Given the description of an element on the screen output the (x, y) to click on. 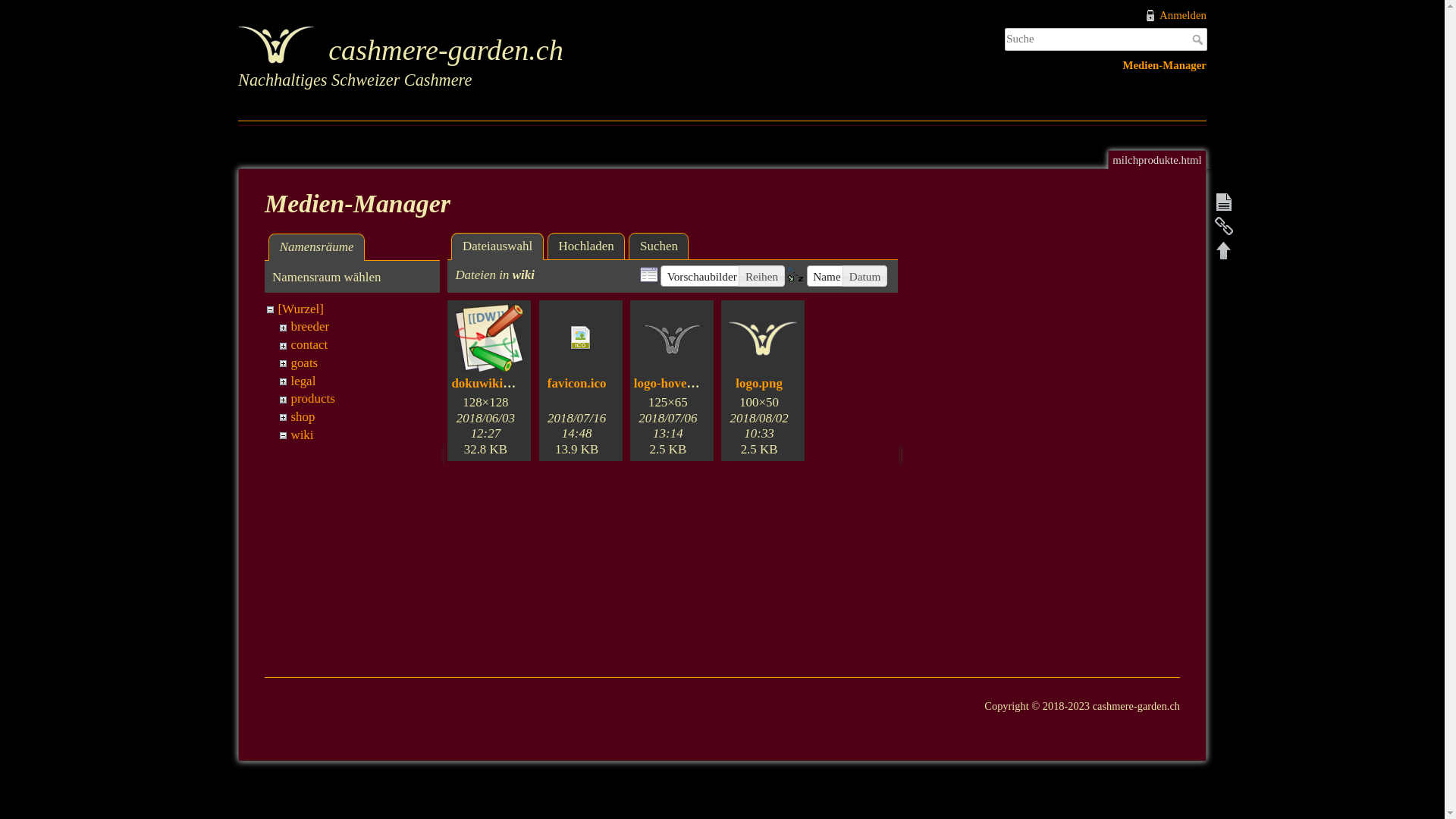
cashmere-garden.ch Element type: text (475, 46)
contact Element type: text (308, 344)
Links hierher Element type: hover (1223, 225)
favicon.ico Element type: text (576, 383)
dokuwiki-128.png Element type: text (500, 383)
breeder Element type: text (309, 326)
[F] Element type: hover (1105, 39)
Suchen Element type: text (658, 246)
shop Element type: text (302, 416)
legal Element type: text (302, 380)
logo.png Element type: text (758, 383)
products Element type: text (312, 398)
logo-hover.png Element type: text (674, 383)
Seite anzeigen [V] Element type: hover (1223, 201)
Medien-Manager Element type: text (1164, 65)
Suche Element type: text (1199, 39)
[Wurzel] Element type: text (300, 308)
Hochladen Element type: text (586, 246)
wiki Element type: text (301, 434)
goats Element type: text (303, 362)
Nach oben [T] Element type: hover (1223, 250)
Anmelden Element type: text (1175, 15)
wiki:favicon.ico Element type: hover (580, 338)
